Given the description of an element on the screen output the (x, y) to click on. 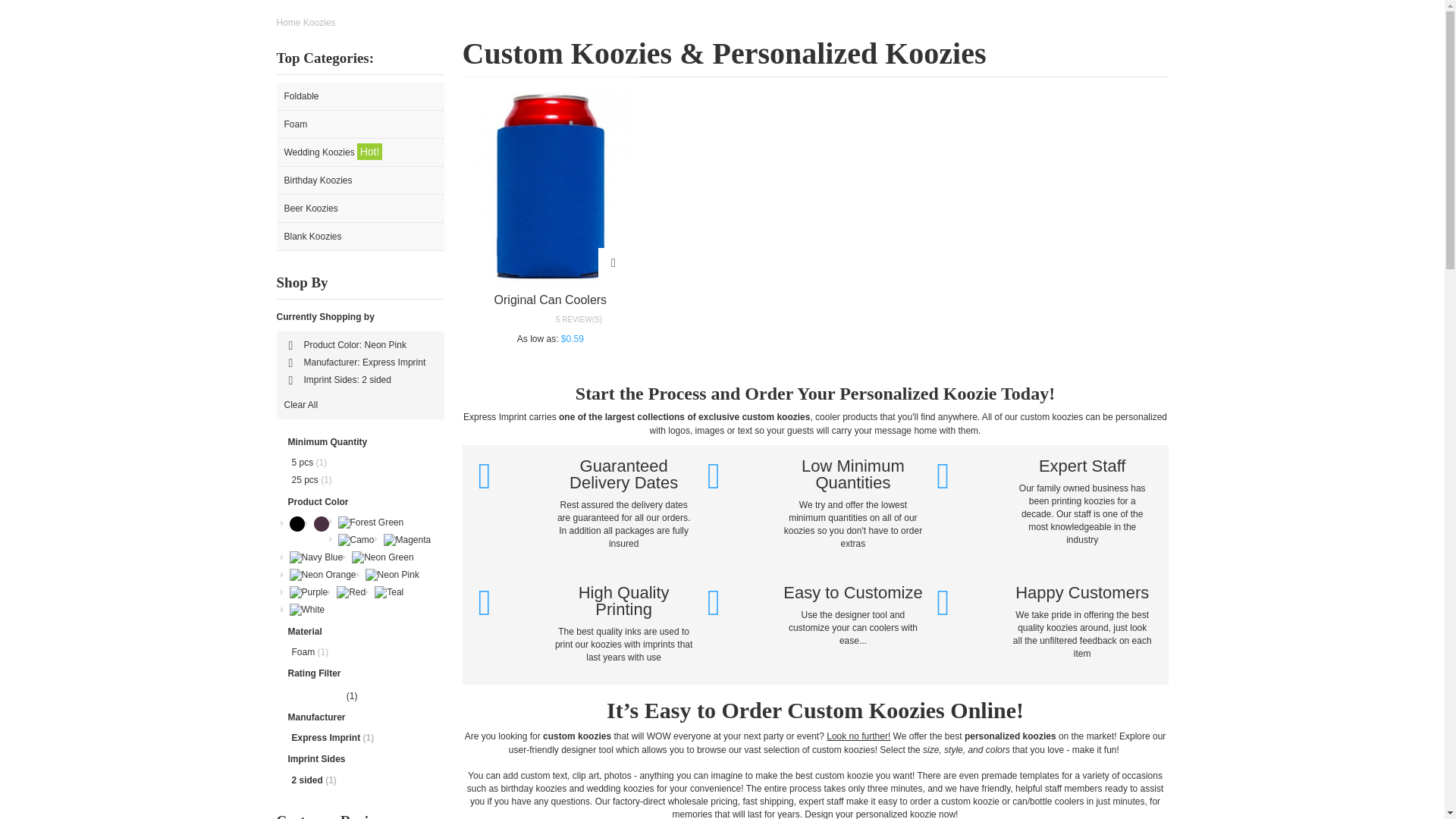
Add to Compare (613, 263)
Original Can Coolers (551, 299)
Burgundy (321, 523)
Original Can Coolers (551, 299)
Home (287, 22)
Remove This Item (290, 345)
Koozies (319, 22)
Go to Home Page (287, 22)
Black (296, 523)
Remove This Item (290, 380)
Remove This Item (290, 363)
